Given the description of an element on the screen output the (x, y) to click on. 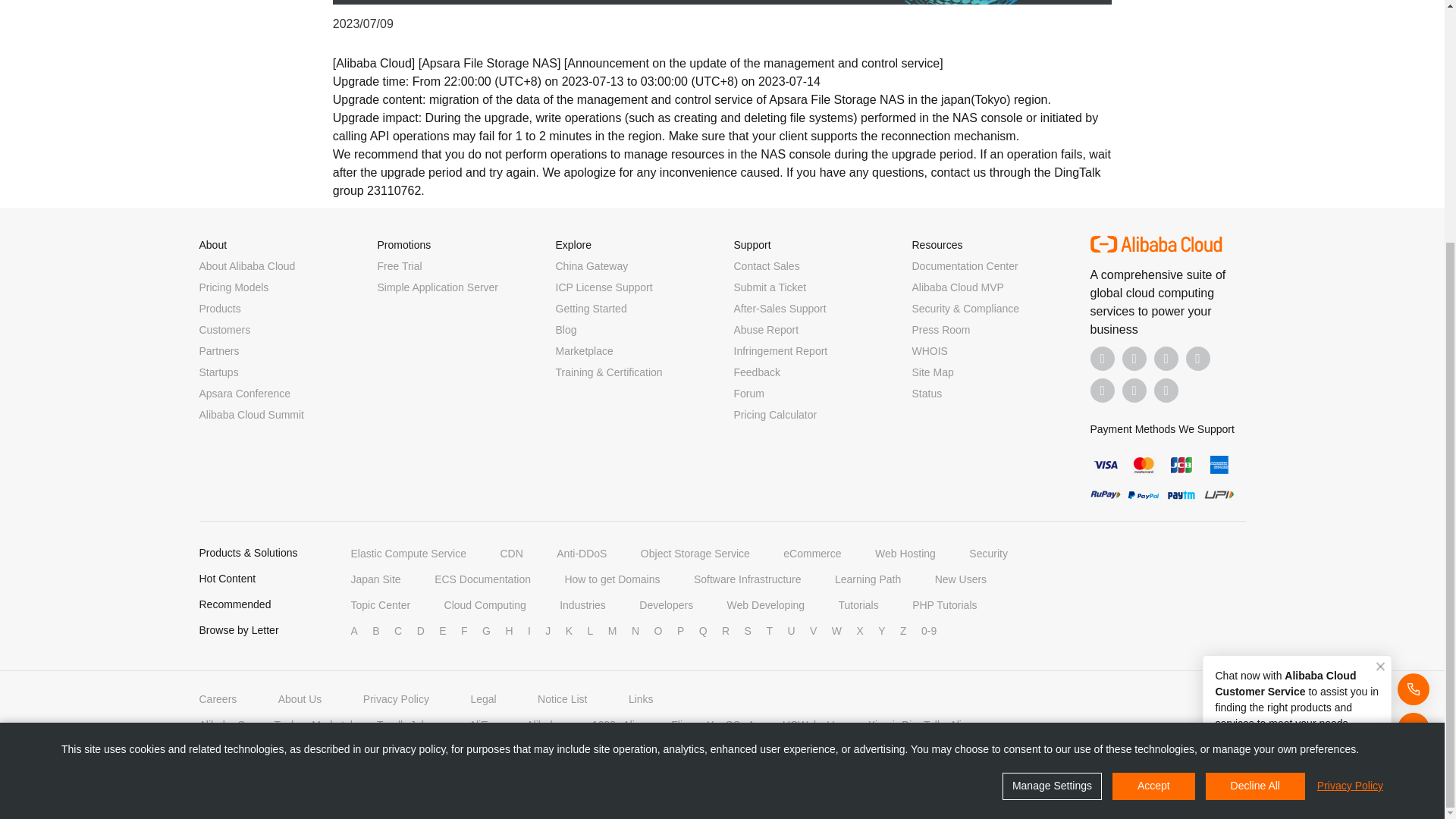
Linkedin (1134, 358)
YouTube (1197, 358)
Call Us Now (1165, 390)
Facebook (1102, 358)
Twitter (1165, 358)
TikTok (1102, 390)
